Given the description of an element on the screen output the (x, y) to click on. 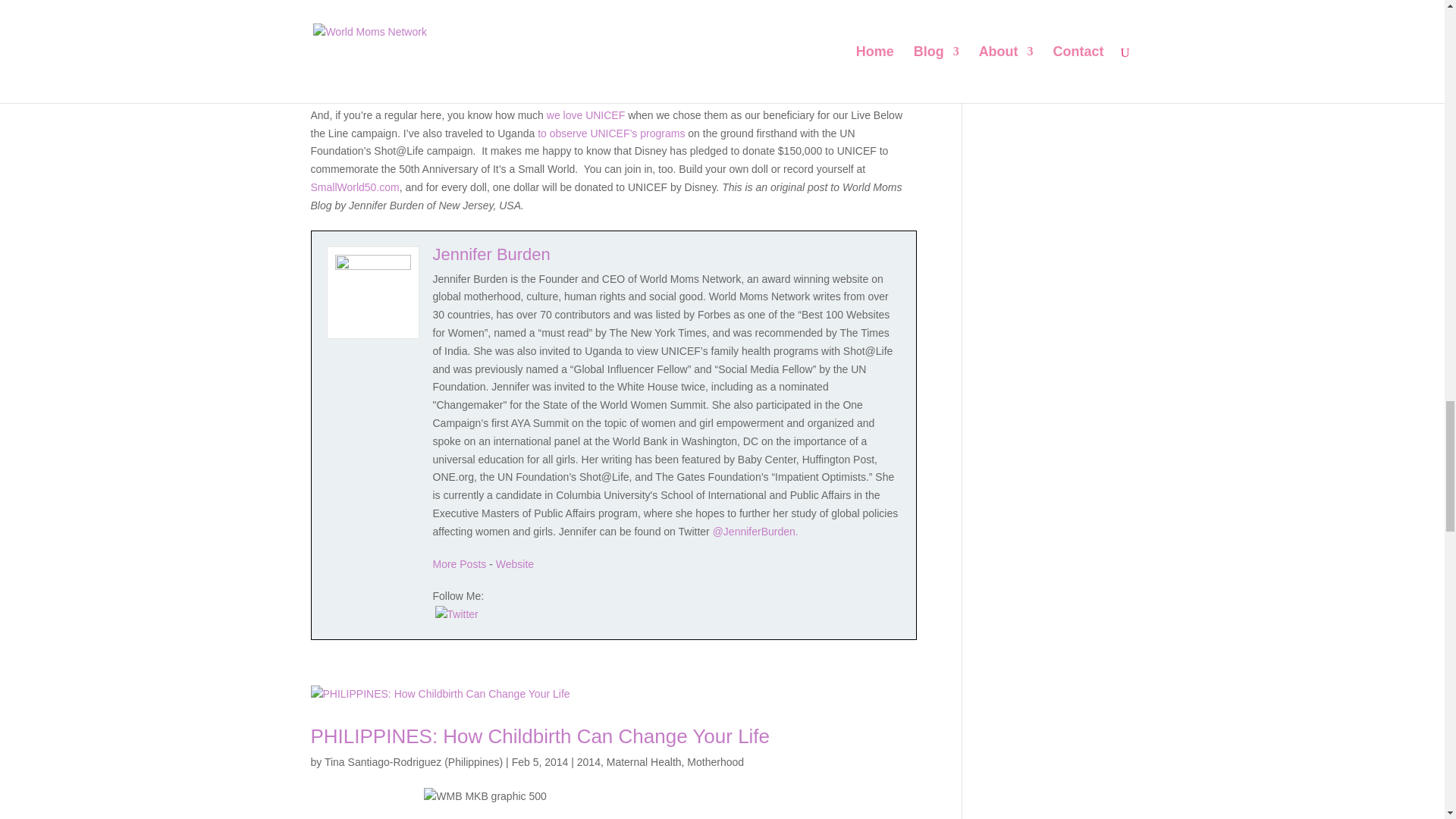
Small World 50 (354, 186)
UNICEF Uganda programs (609, 133)
Live Below the Line UNICEF (585, 114)
Jennifer Burden (491, 253)
